Given the description of an element on the screen output the (x, y) to click on. 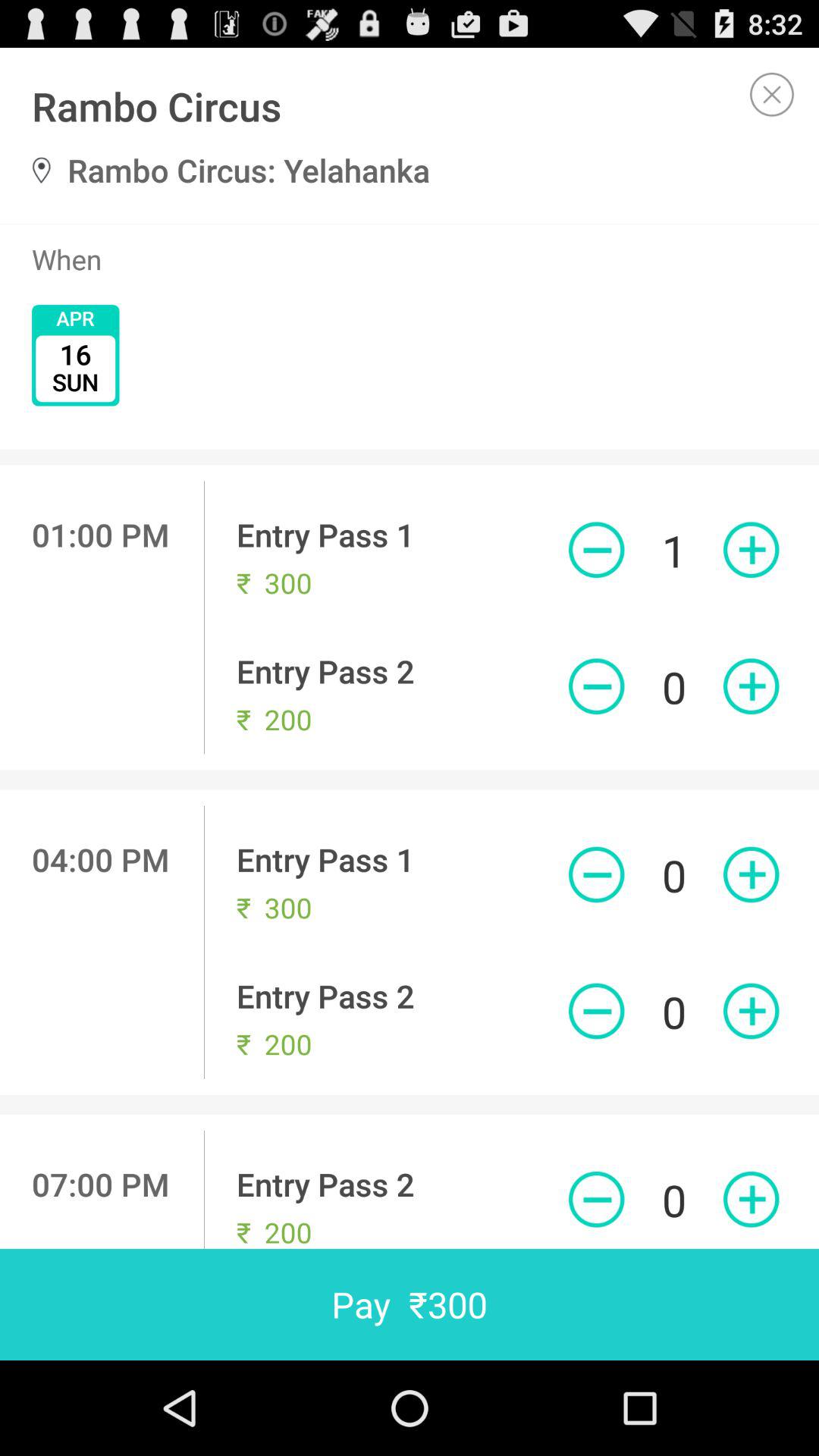
number of tickets to buy (751, 686)
